Given the description of an element on the screen output the (x, y) to click on. 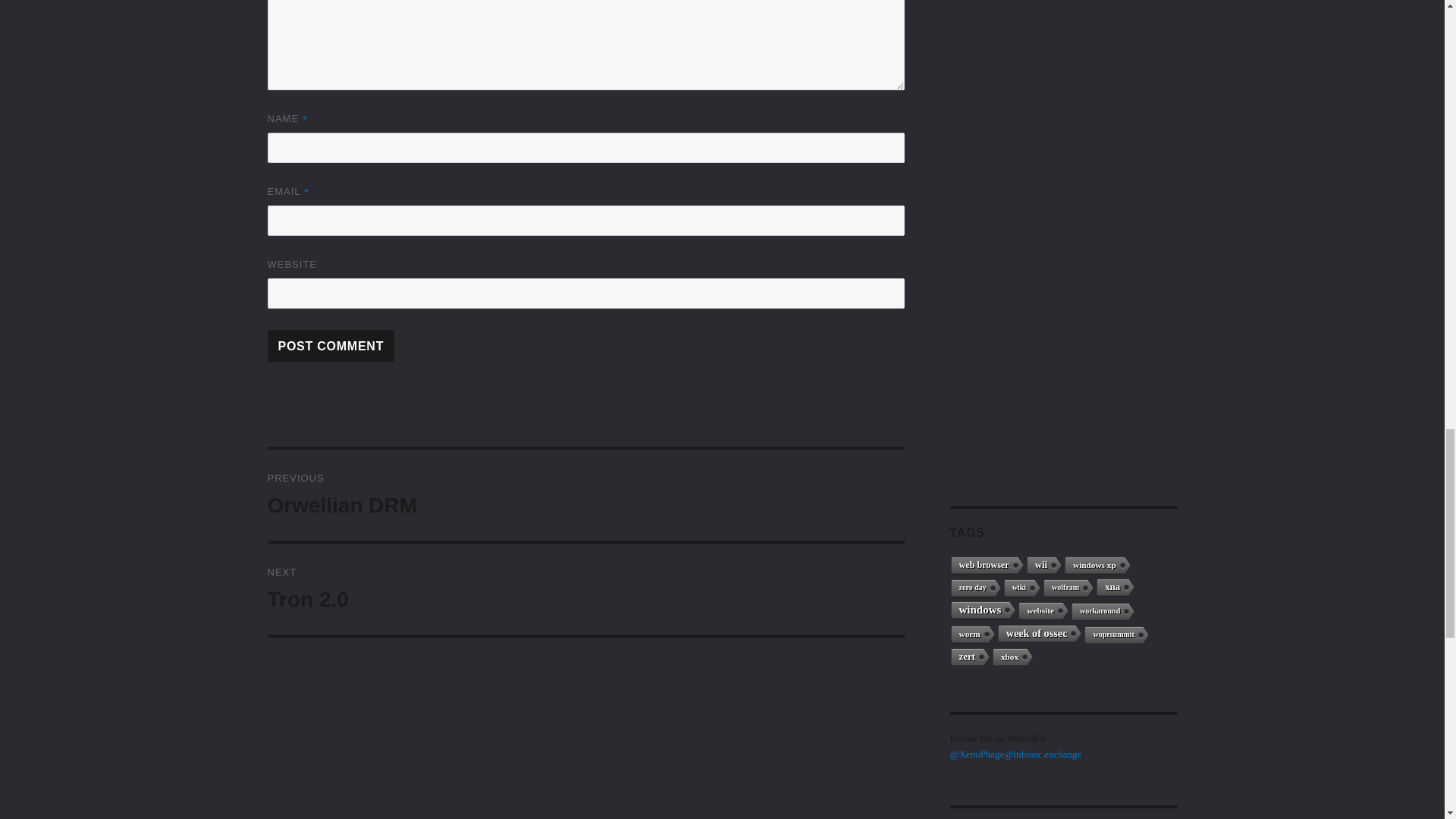
Post Comment (585, 588)
Post Comment (330, 345)
